Given the description of an element on the screen output the (x, y) to click on. 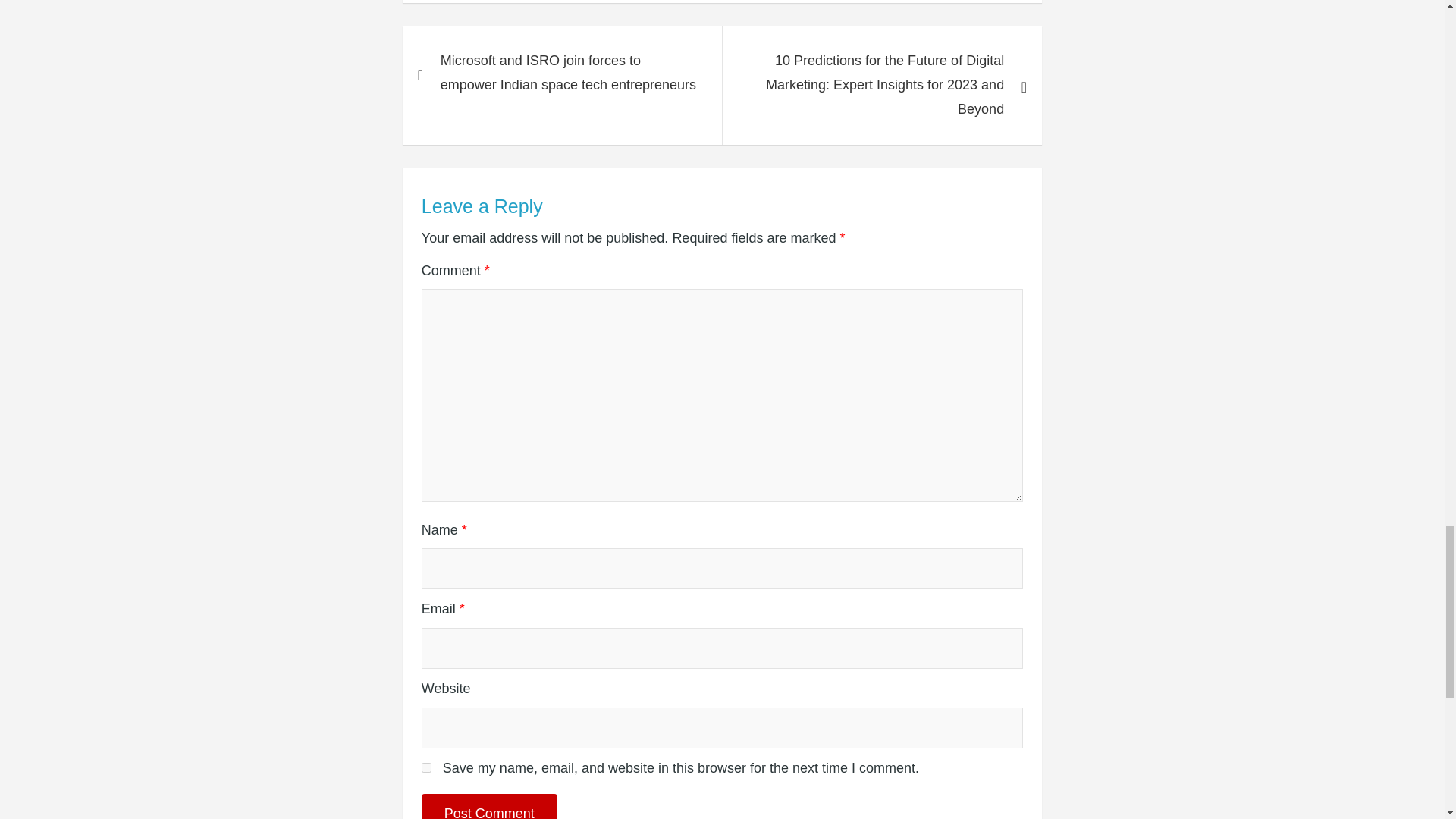
yes (426, 767)
Post Comment (489, 806)
Post Comment (489, 806)
